Given the description of an element on the screen output the (x, y) to click on. 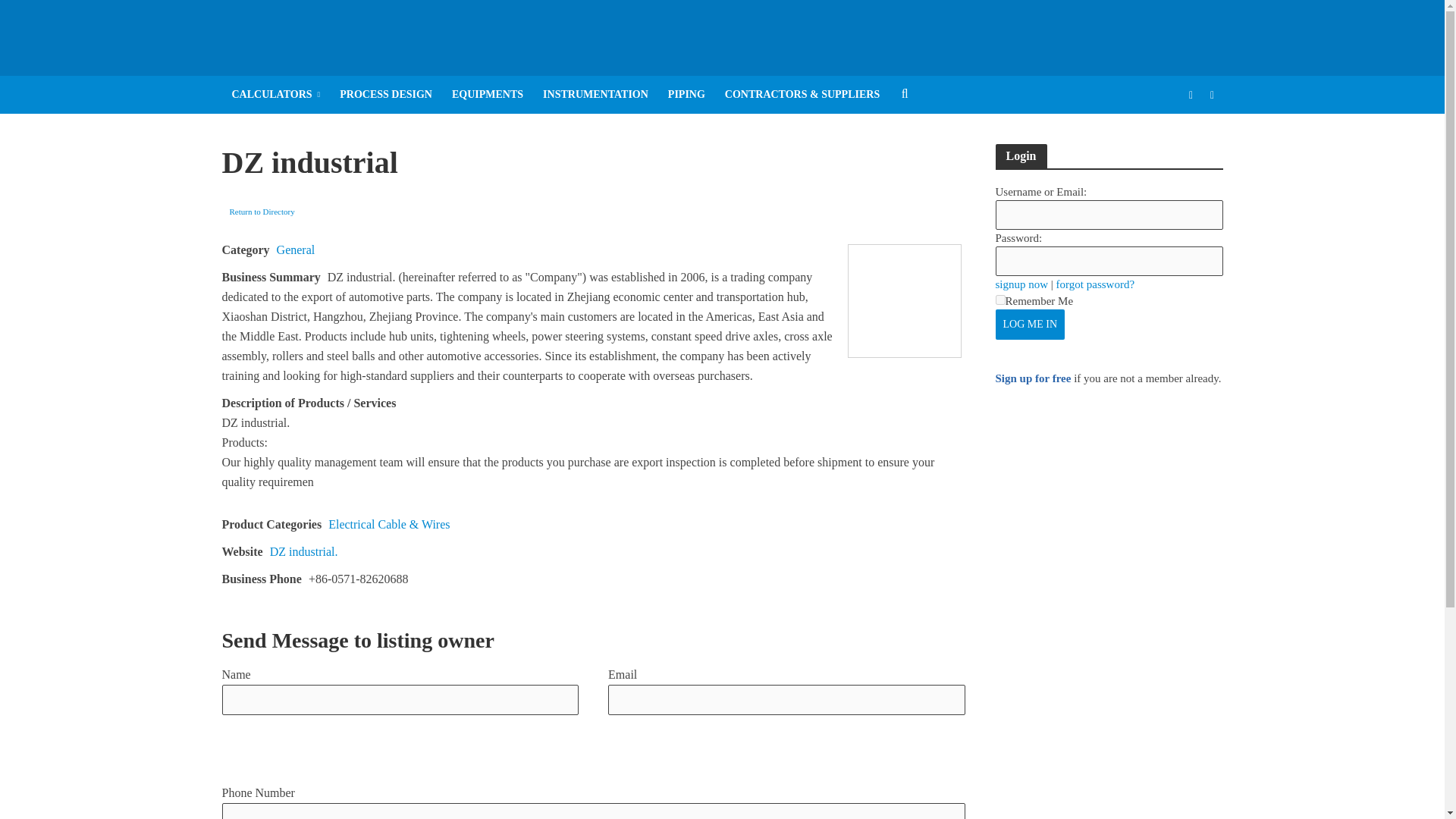
INSTRUMENTATION (595, 94)
DZ industrial. (303, 551)
CALCULATORS (275, 94)
PROCESS DESIGN (386, 94)
Password (1108, 261)
EQUIPMENTS (487, 94)
Log Me In (1029, 324)
Username (1108, 214)
forever (999, 299)
Equipments (487, 94)
